Given the description of an element on the screen output the (x, y) to click on. 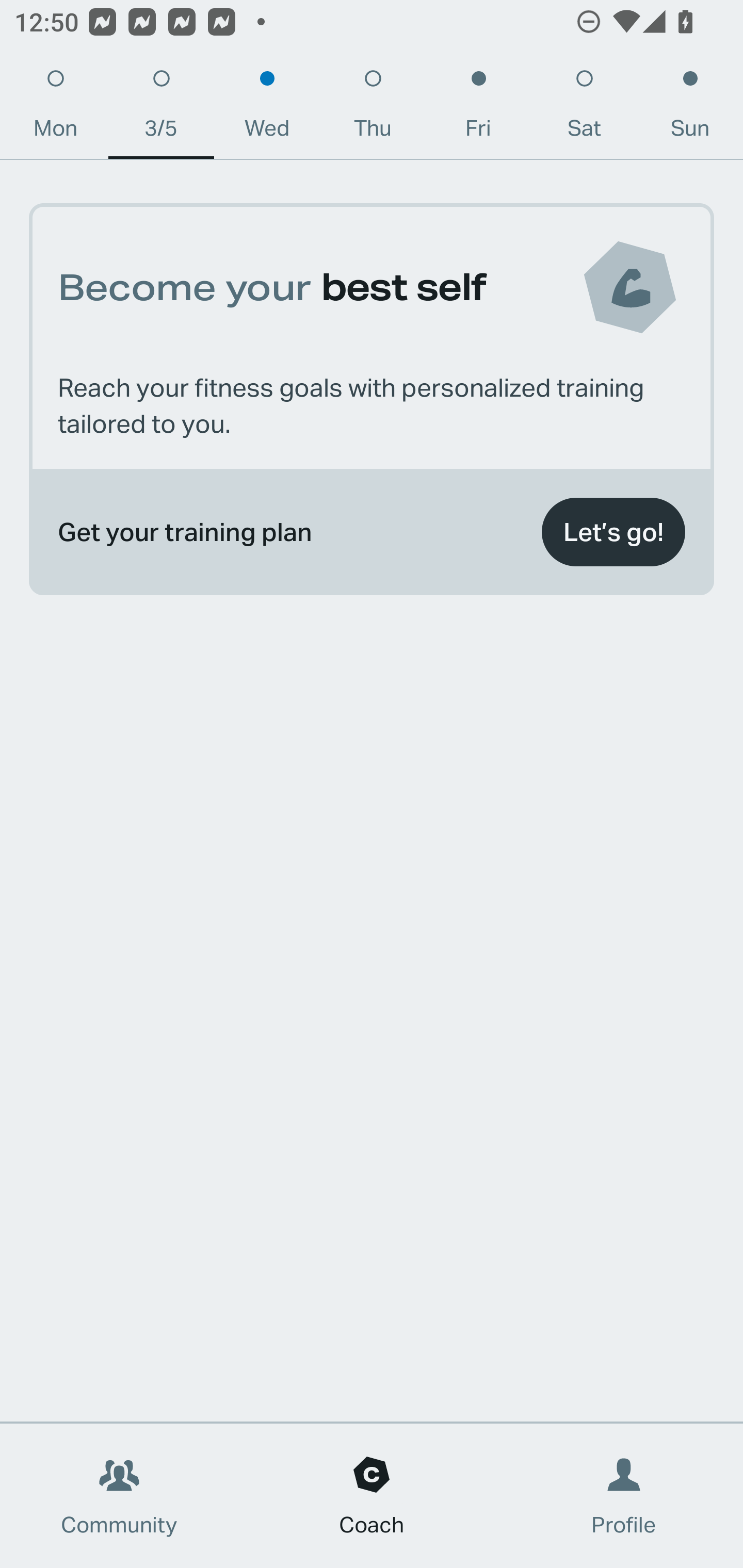
Mon (55, 108)
3/5 (160, 108)
Wed (266, 108)
Thu (372, 108)
Fri (478, 108)
Sat (584, 108)
Sun (690, 108)
Let’s go! (613, 532)
Community (119, 1495)
Profile (624, 1495)
